Given the description of an element on the screen output the (x, y) to click on. 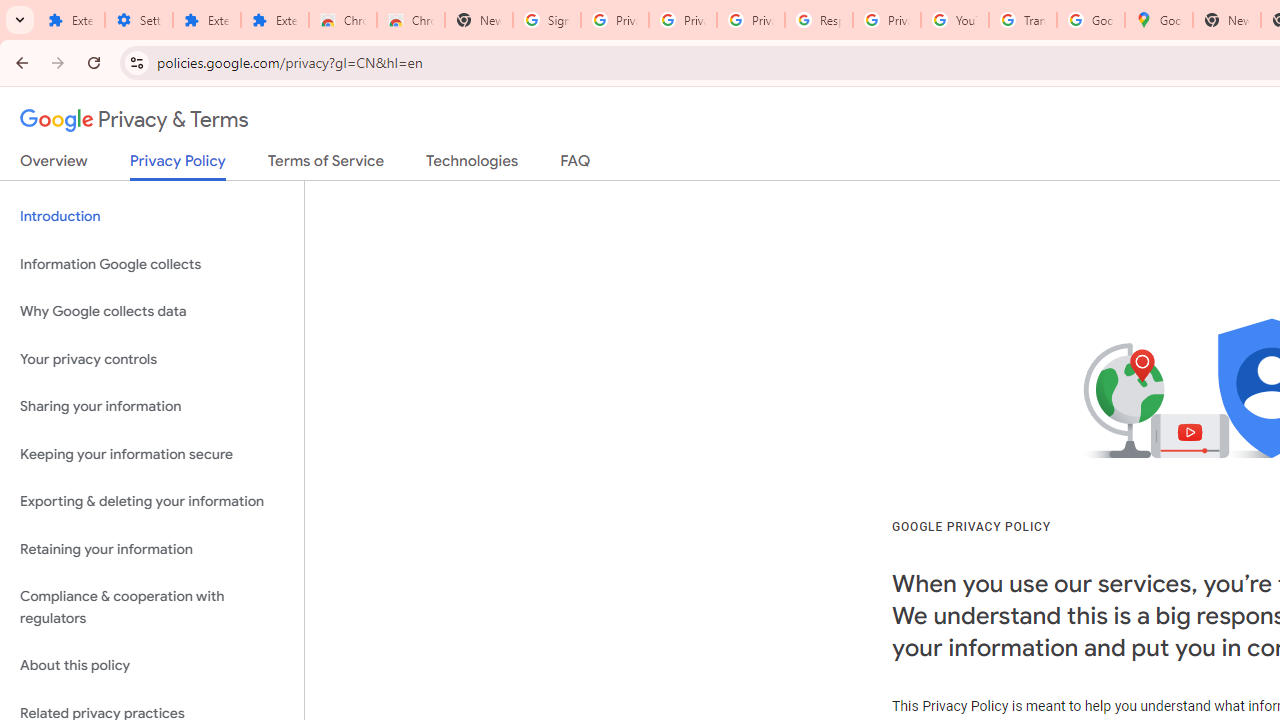
Sign in - Google Accounts (547, 20)
Extensions (274, 20)
Google Maps (1158, 20)
Chrome Web Store - Themes (411, 20)
